Given the description of an element on the screen output the (x, y) to click on. 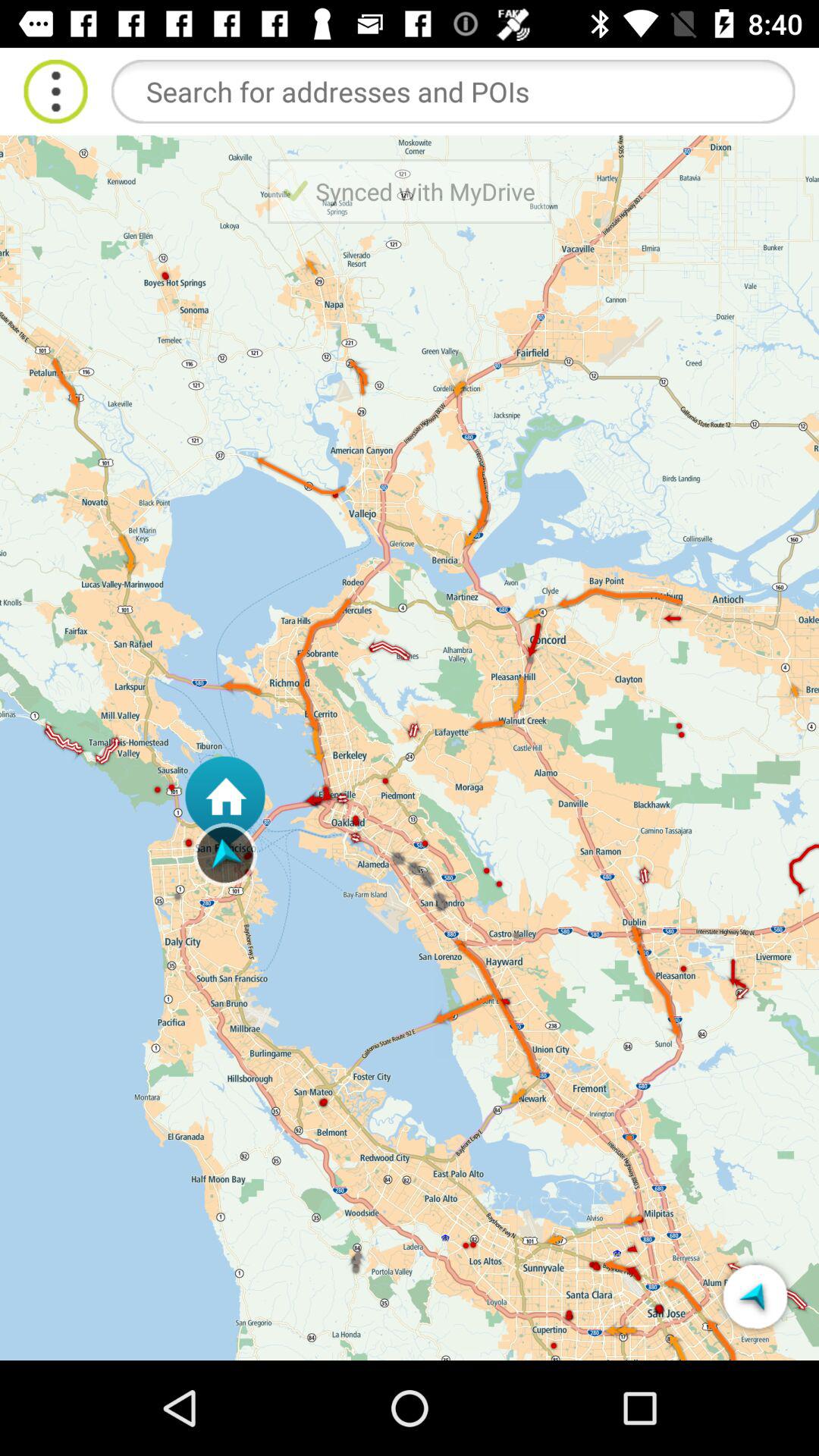
search box (453, 91)
